Given the description of an element on the screen output the (x, y) to click on. 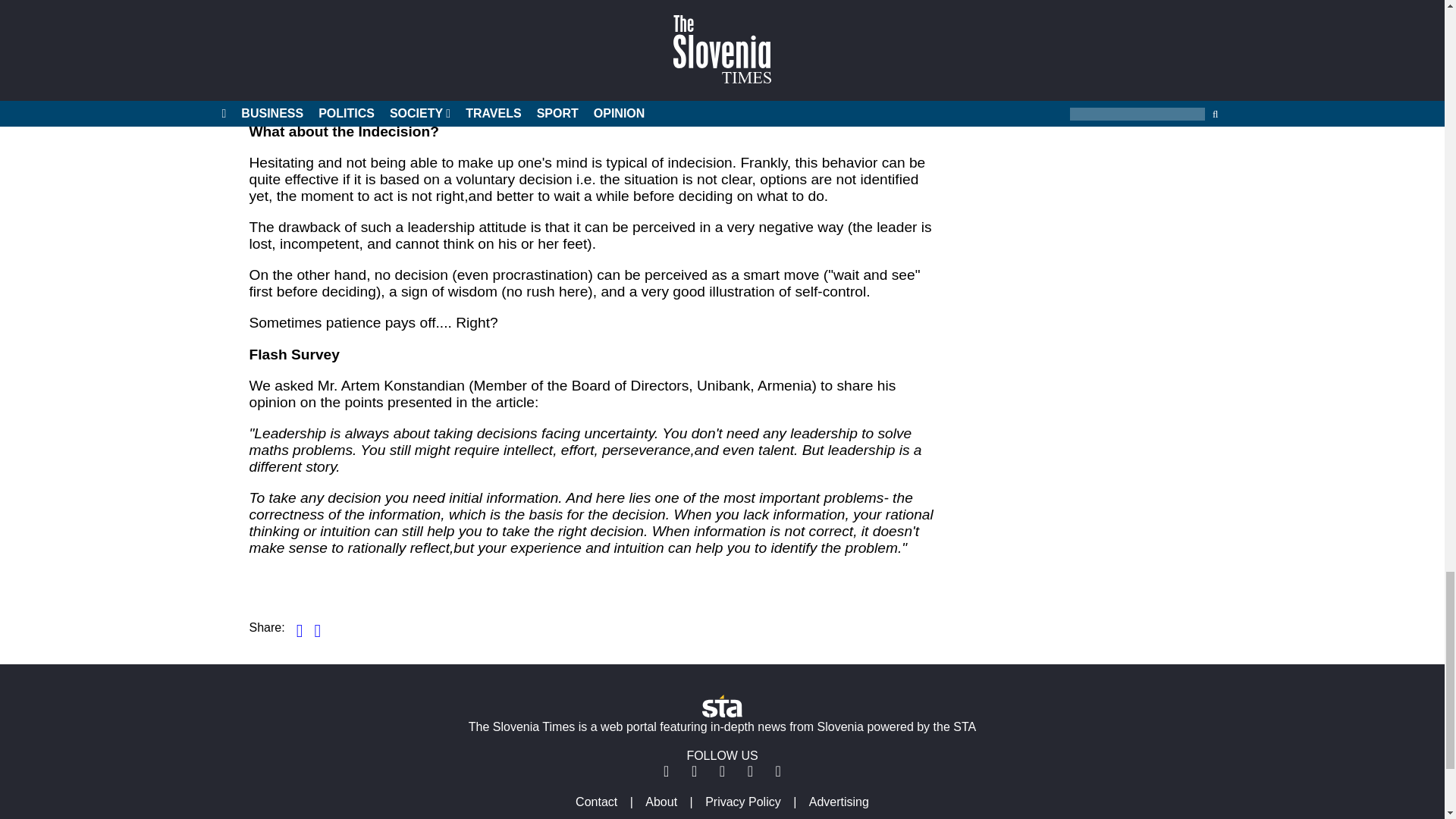
Advertising (838, 801)
Privacy Policy (742, 801)
About (660, 801)
Contact (596, 801)
